Given the description of an element on the screen output the (x, y) to click on. 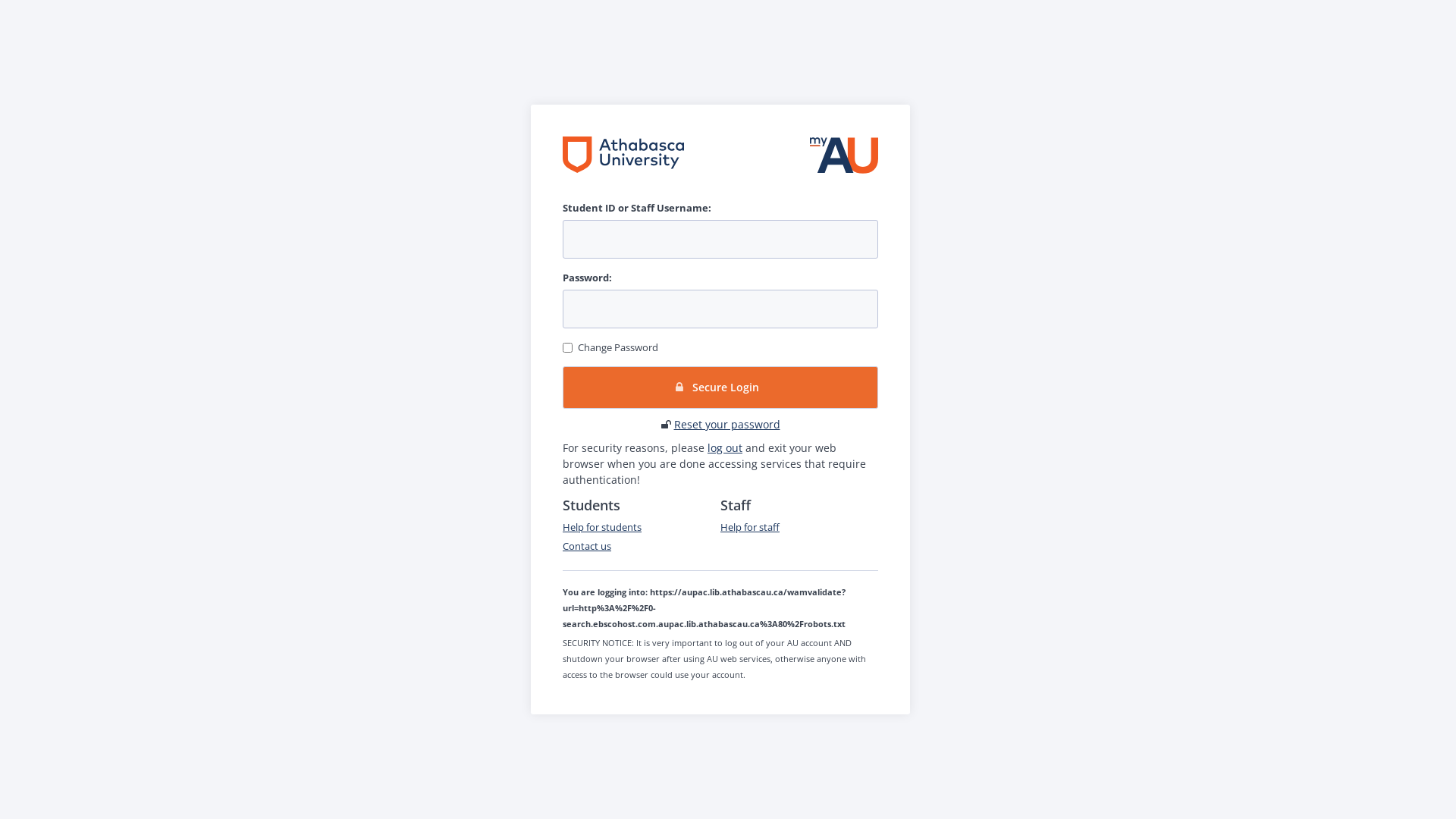
log out Element type: text (724, 447)
Help for students Element type: text (601, 526)
Secure Login Element type: text (720, 387)
Reset your password Element type: text (726, 424)
Help for staff Element type: text (749, 526)
Contact us Element type: text (586, 545)
